Given the description of an element on the screen output the (x, y) to click on. 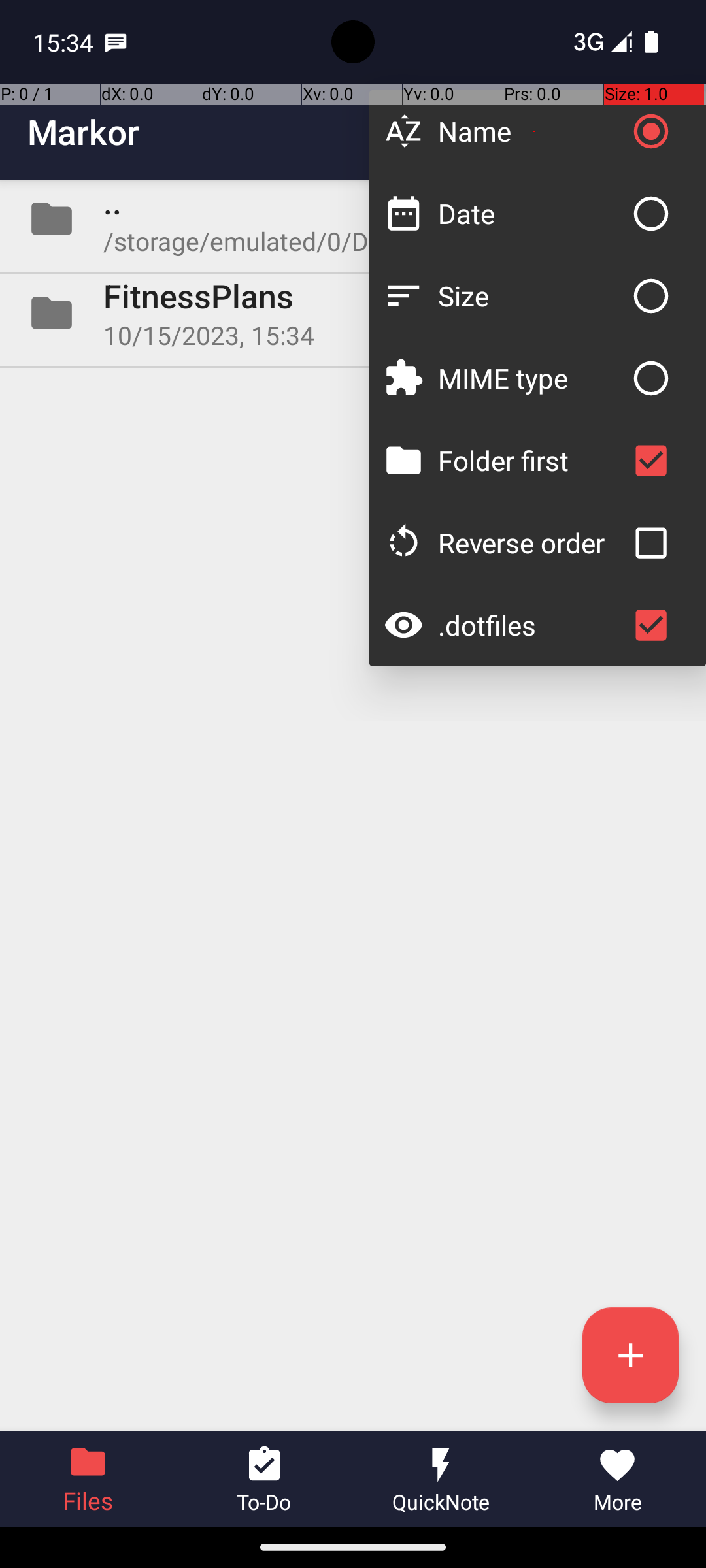
Size Element type: android.widget.TextView (530, 295)
MIME type Element type: android.widget.TextView (530, 377)
Folder first Element type: android.widget.TextView (530, 459)
Reverse order Element type: android.widget.TextView (530, 542)
.dotfiles Element type: android.widget.TextView (530, 624)
